Given the description of an element on the screen output the (x, y) to click on. 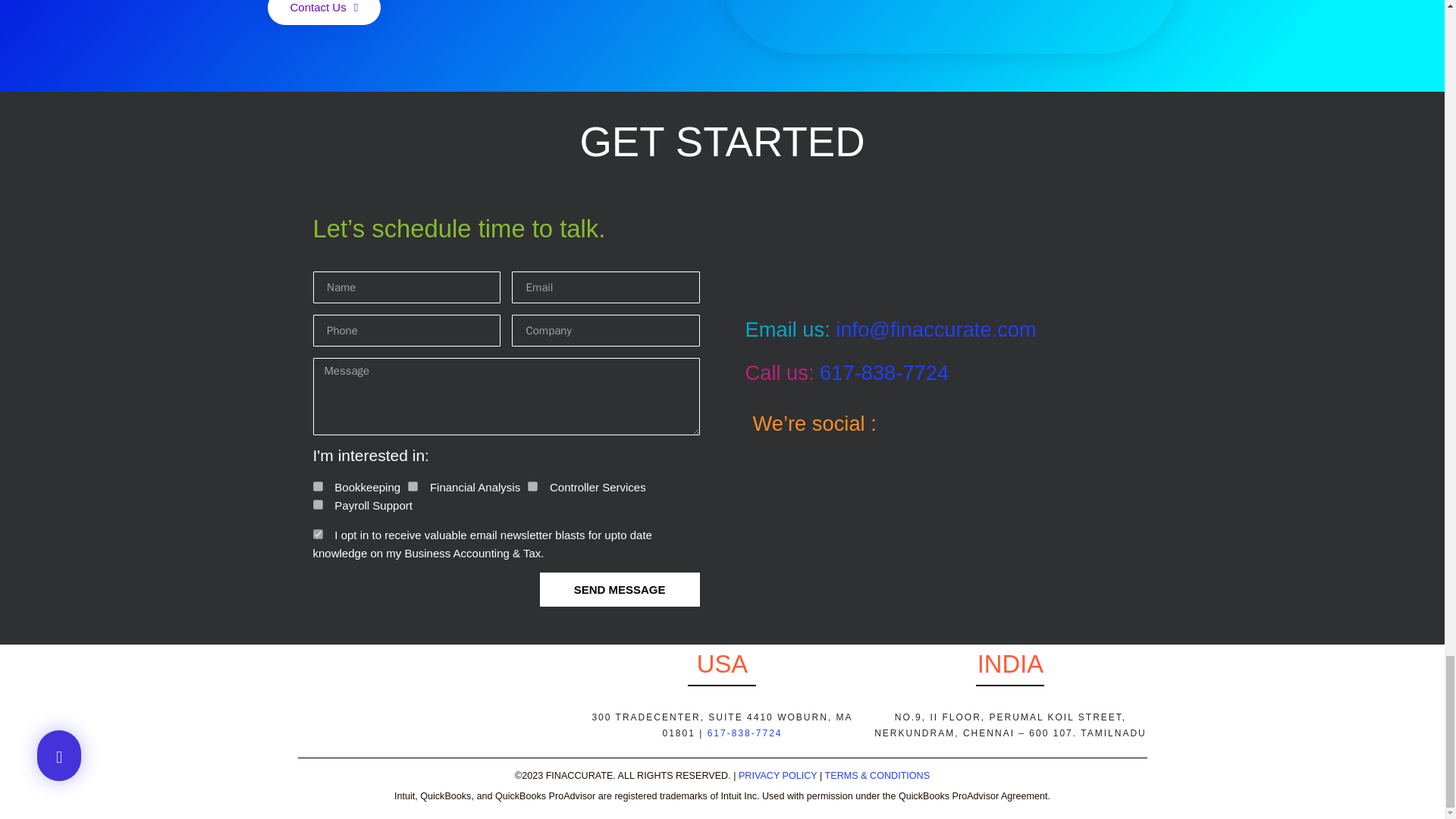
Payroll Support (317, 504)
Bookkeeping (317, 486)
facebook icon (1030, 424)
Twitter (1082, 424)
Controller Services (532, 486)
LinkedIn-Icon (979, 424)
Financial Analysis (412, 486)
on (317, 533)
